Given the description of an element on the screen output the (x, y) to click on. 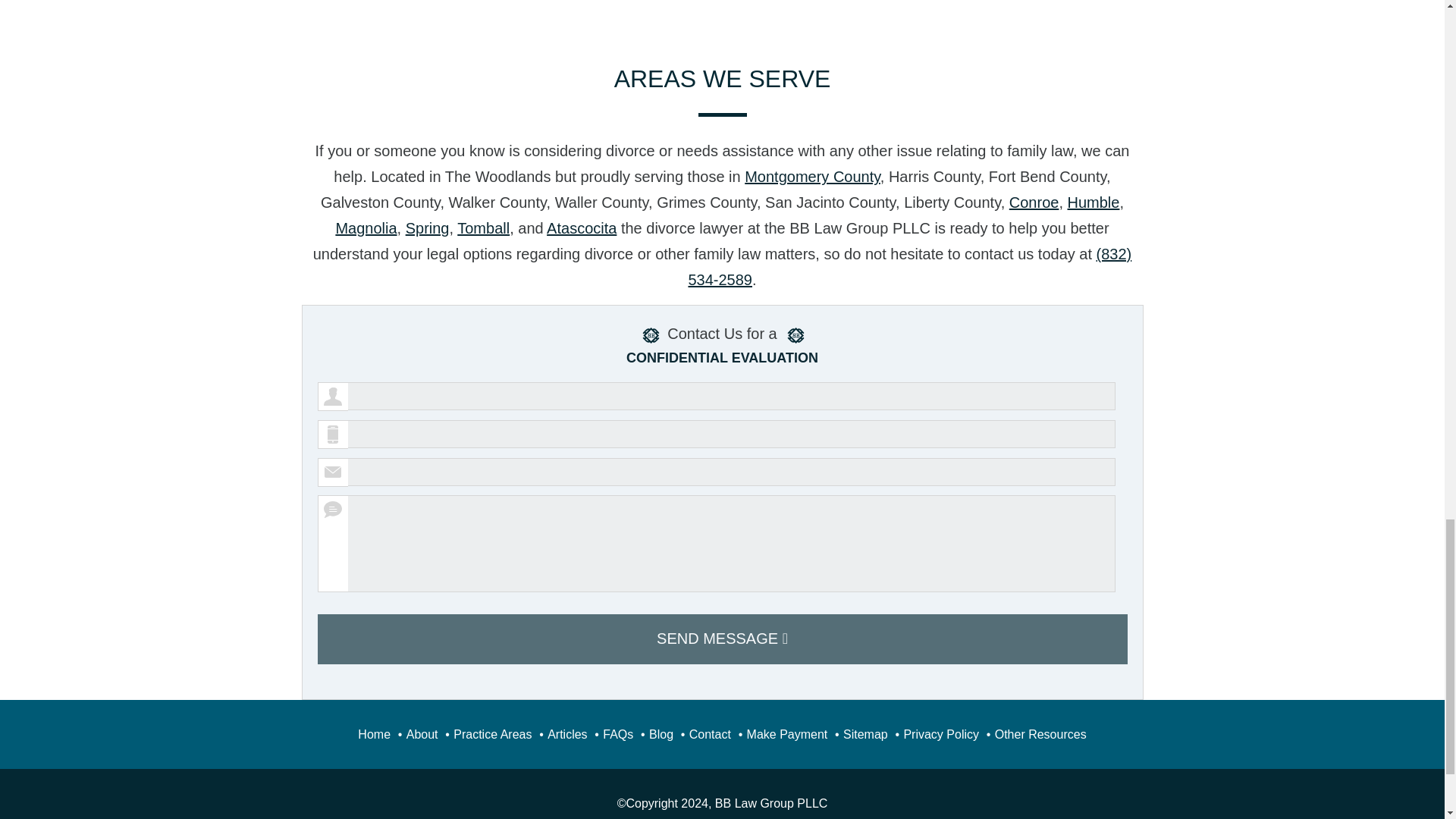
Montgomery County (812, 176)
Privacy Policy (940, 734)
Spring (427, 228)
FAQs (617, 734)
Conroe (1034, 202)
Home (374, 734)
About (422, 734)
Blog (660, 734)
Tomball (483, 228)
Atascocita (581, 228)
Contact (709, 734)
Other Resources (1040, 734)
Articles (566, 734)
Humble (1093, 202)
Magnolia (365, 228)
